Given the description of an element on the screen output the (x, y) to click on. 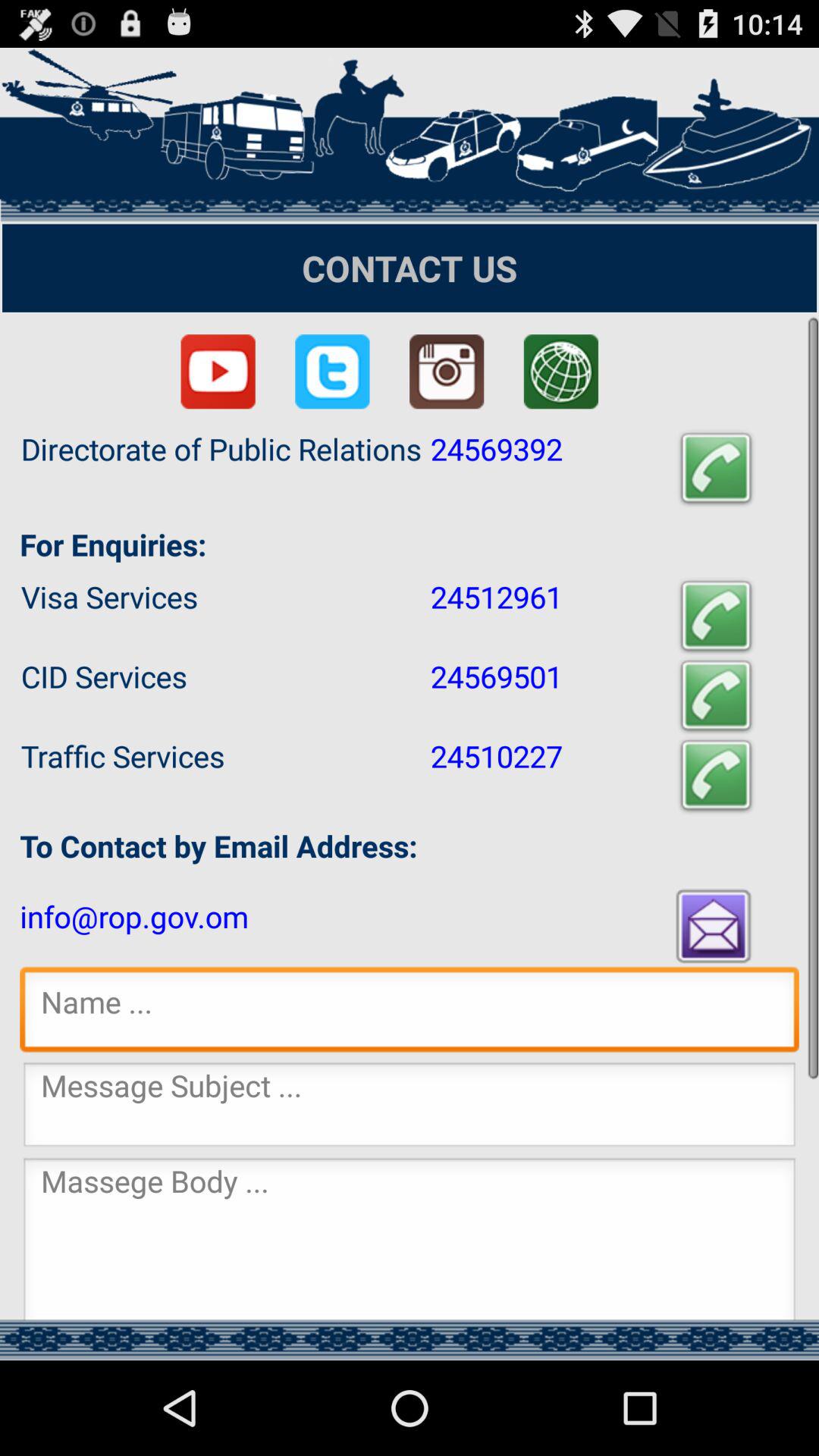
input message subject (409, 1108)
